Given the description of an element on the screen output the (x, y) to click on. 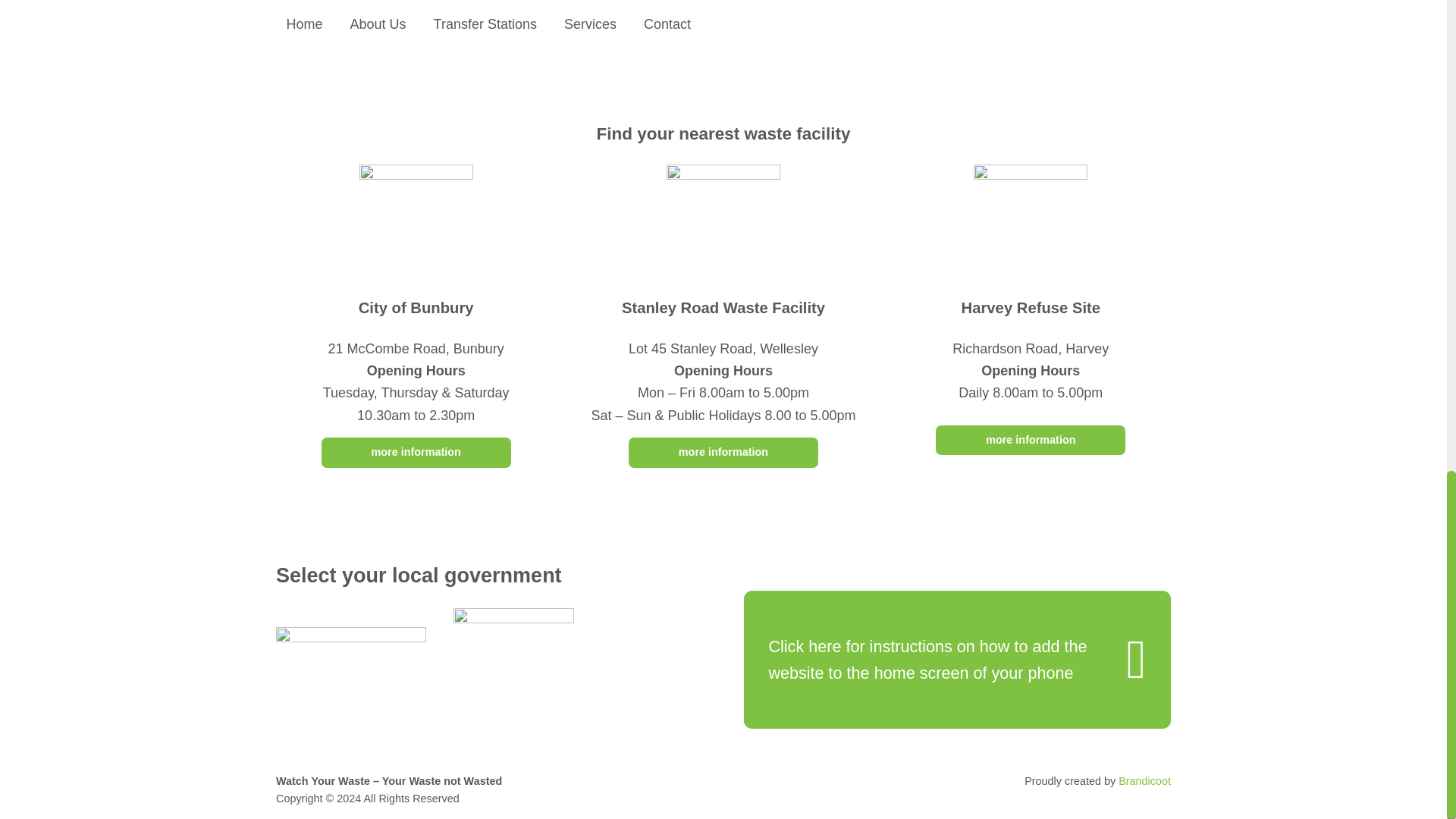
Brandicoot (1144, 780)
more information (723, 452)
more information (1030, 440)
more information (416, 452)
